Given the description of an element on the screen output the (x, y) to click on. 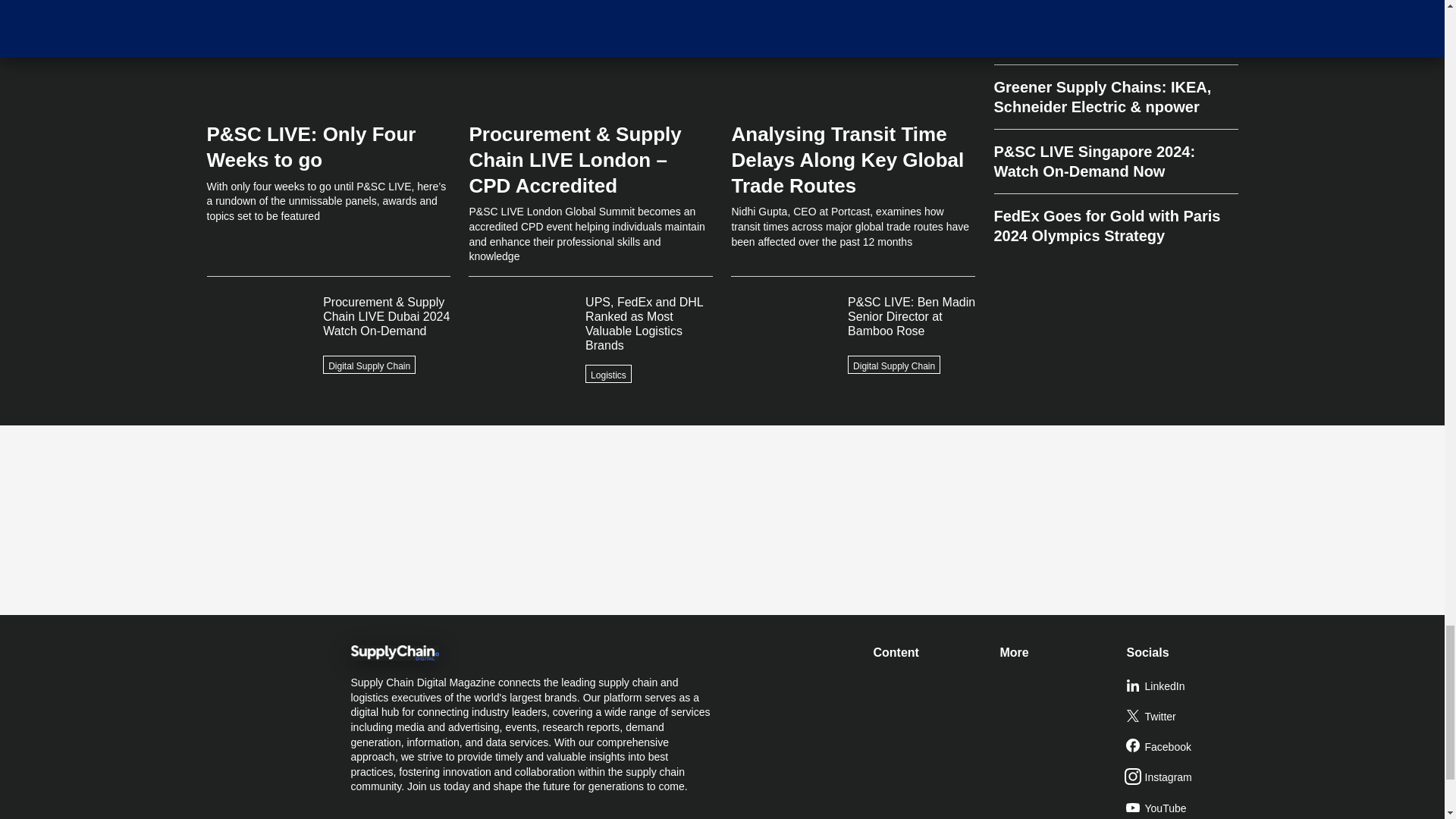
FedEx Goes for Gold with Paris 2024 Olympics Strategy (1114, 219)
Instagram (1182, 777)
Facebook (1182, 747)
LinkedIn (1182, 686)
Twitter (1182, 716)
